Given the description of an element on the screen output the (x, y) to click on. 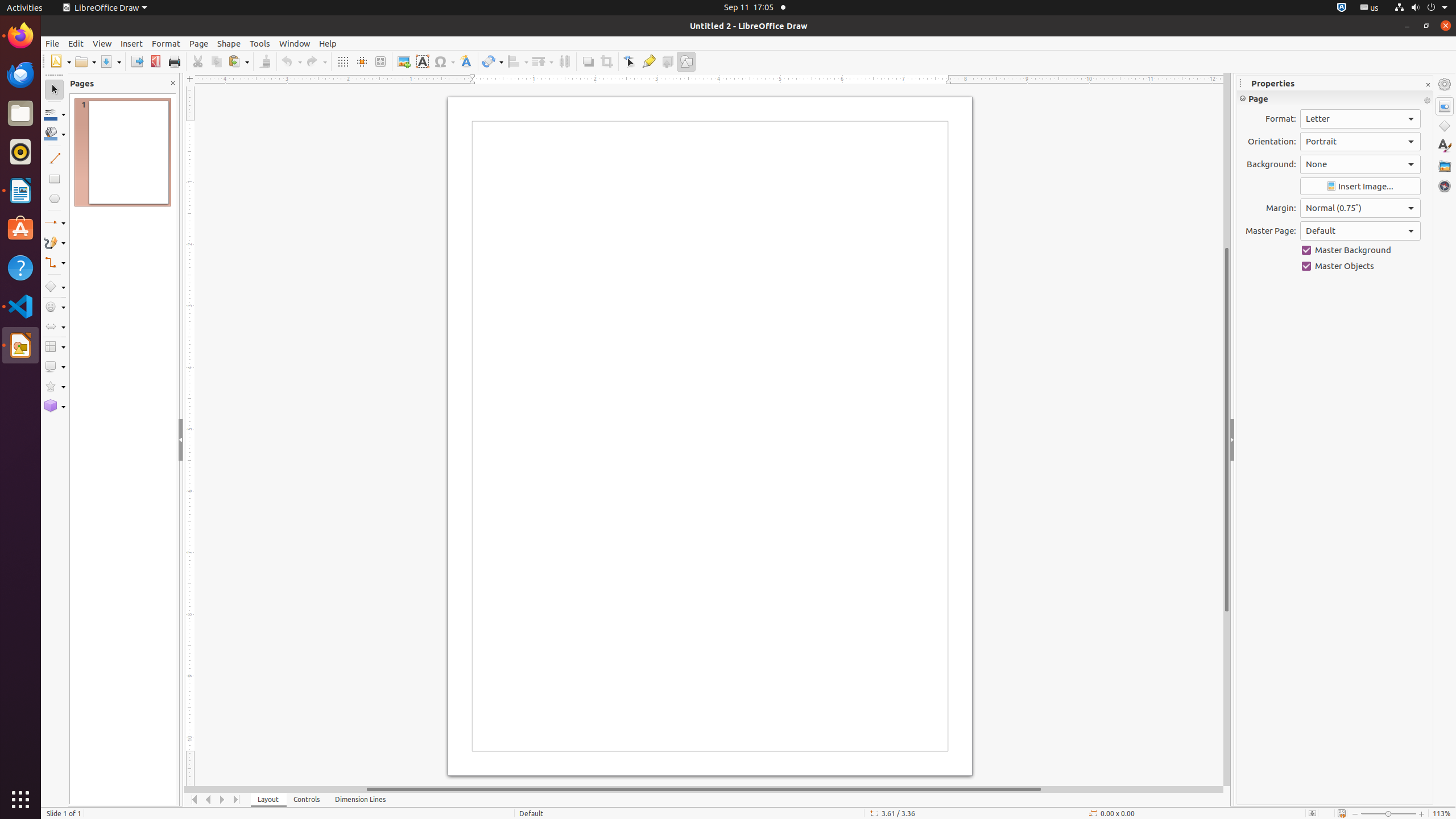
Save Element type: push-button (109, 61)
Page Element type: menu (198, 43)
Shapes Element type: radio-button (1444, 126)
Thunderbird Mail Element type: push-button (20, 74)
Format: Element type: combo-box (1360, 118)
